Given the description of an element on the screen output the (x, y) to click on. 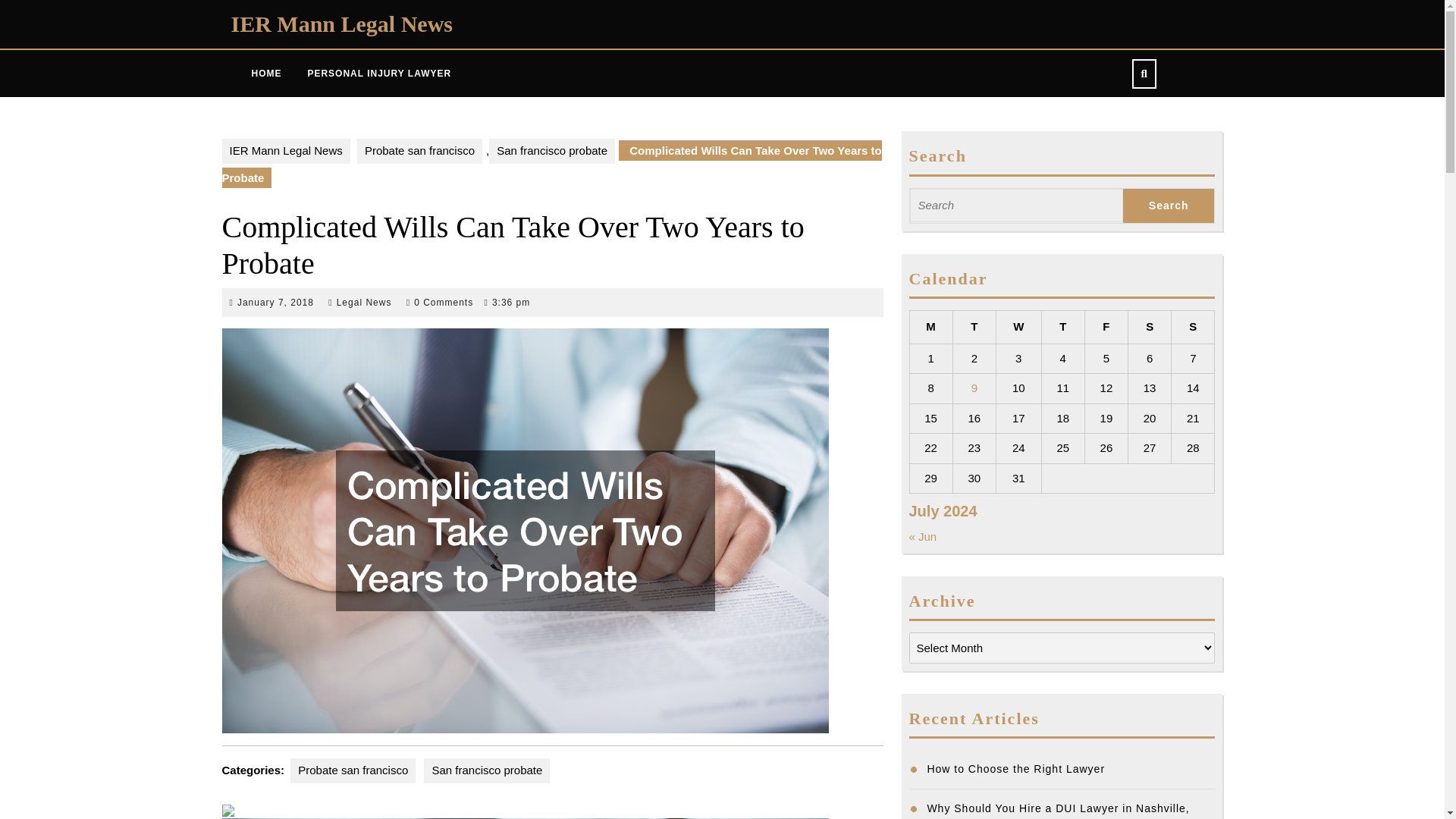
HOME (266, 73)
IER Mann Legal News (363, 302)
Monday (341, 23)
San francisco probate (930, 327)
Saturday (551, 150)
Search (1150, 327)
Sunday (1168, 205)
Search (1193, 327)
Probate san francisco (1168, 205)
Thursday (418, 150)
Search (1062, 327)
How to Choose the Right Lawyer (1168, 205)
Tuesday (1015, 768)
